Given the description of an element on the screen output the (x, y) to click on. 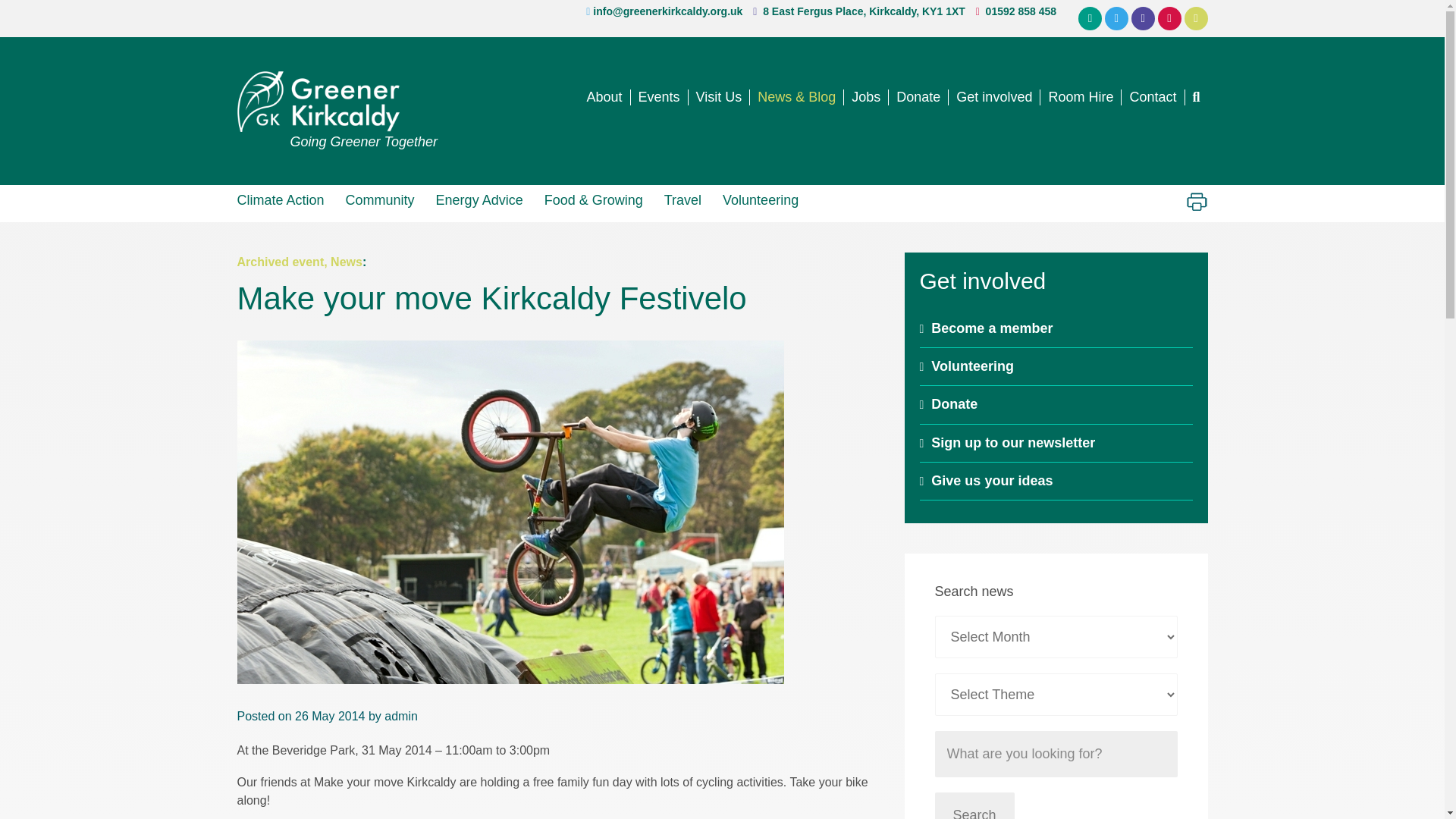
Room Hire (1081, 97)
Instagram (1168, 18)
Energy Advice (479, 199)
About (604, 97)
Get involved (995, 97)
Community (379, 199)
Facebook (1142, 18)
Open search (1196, 97)
Volunteering (760, 199)
Contact (1153, 97)
Climate Action (284, 199)
Twitter (1116, 18)
Archived event, News (298, 261)
YouTube (1196, 18)
Travel (682, 199)
